Given the description of an element on the screen output the (x, y) to click on. 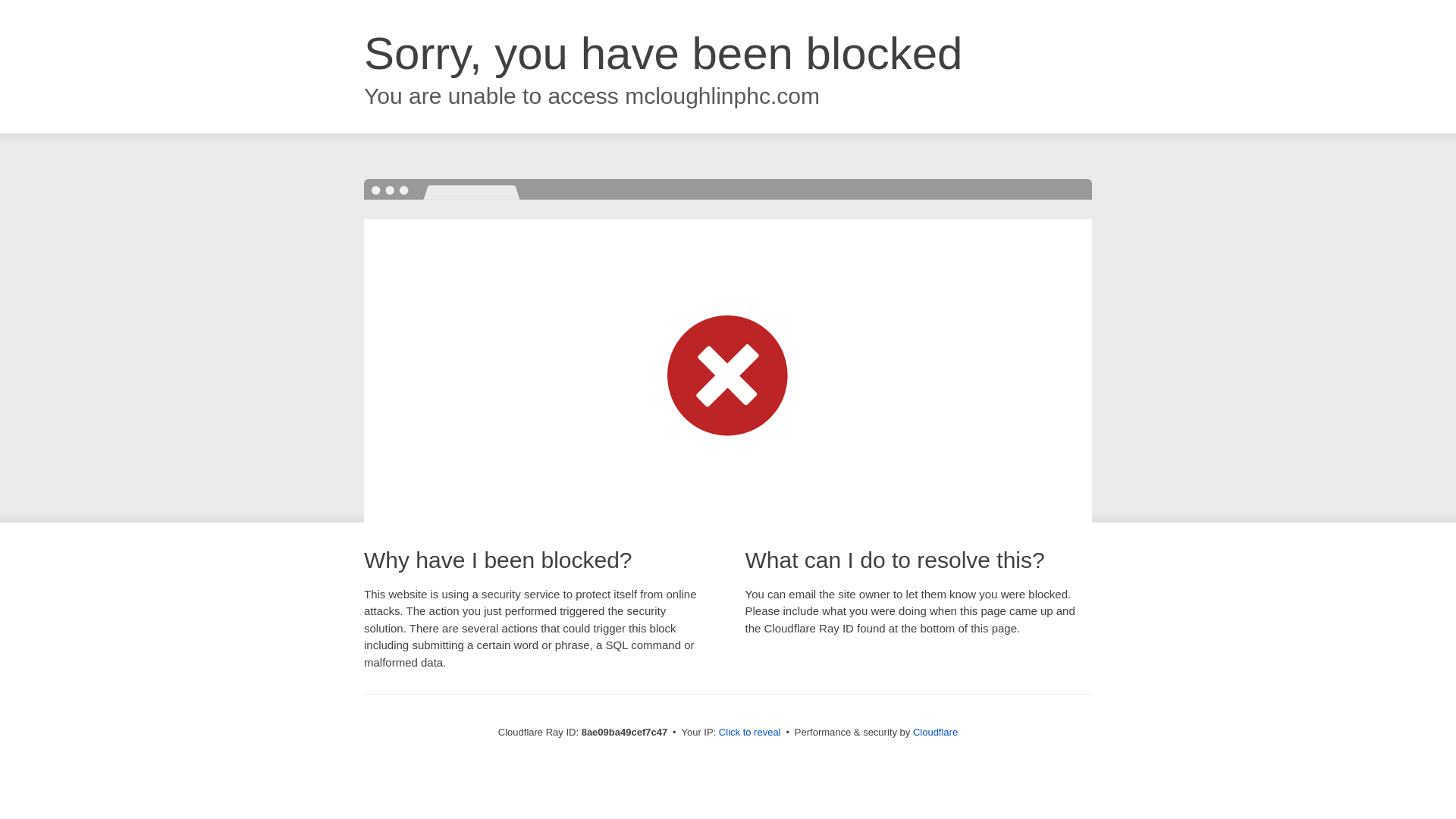
Cloudflare (935, 731)
Click to reveal (749, 732)
